Given the description of an element on the screen output the (x, y) to click on. 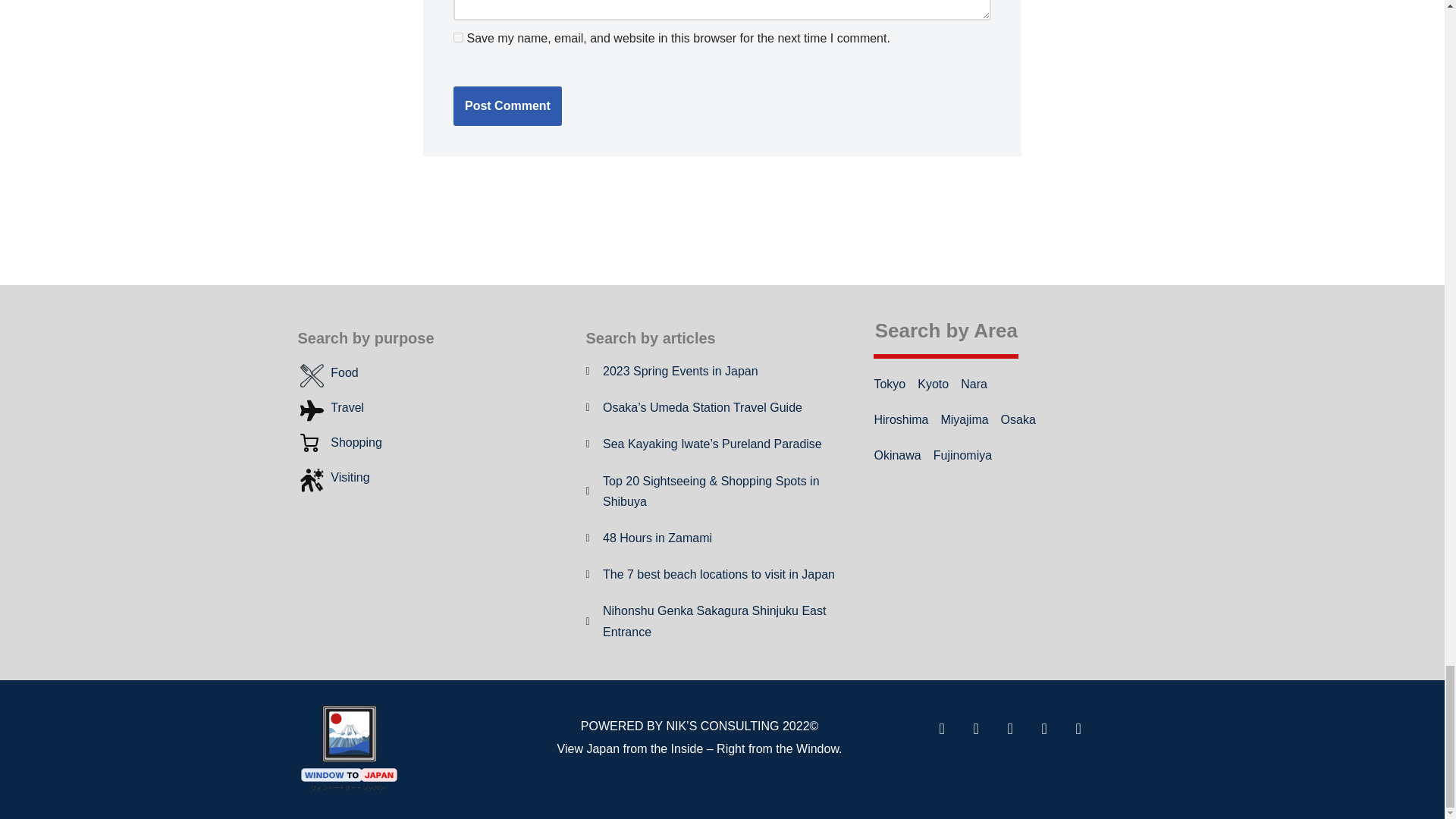
Please wait until Google reCAPTCHA is loaded. (507, 106)
Tokyo (889, 383)
Fujinomiya (962, 455)
48 Hours in Zamami (648, 537)
Food (327, 372)
Post Comment (507, 106)
Okinawa (896, 455)
Kyoto (933, 383)
Osaka (1018, 419)
2023 Spring Events in Japan (671, 371)
Shopping (339, 442)
Travel (330, 407)
The 7 best beach locations to visit in Japan (709, 574)
Miyajima (964, 419)
Post Comment (507, 106)
